Given the description of an element on the screen output the (x, y) to click on. 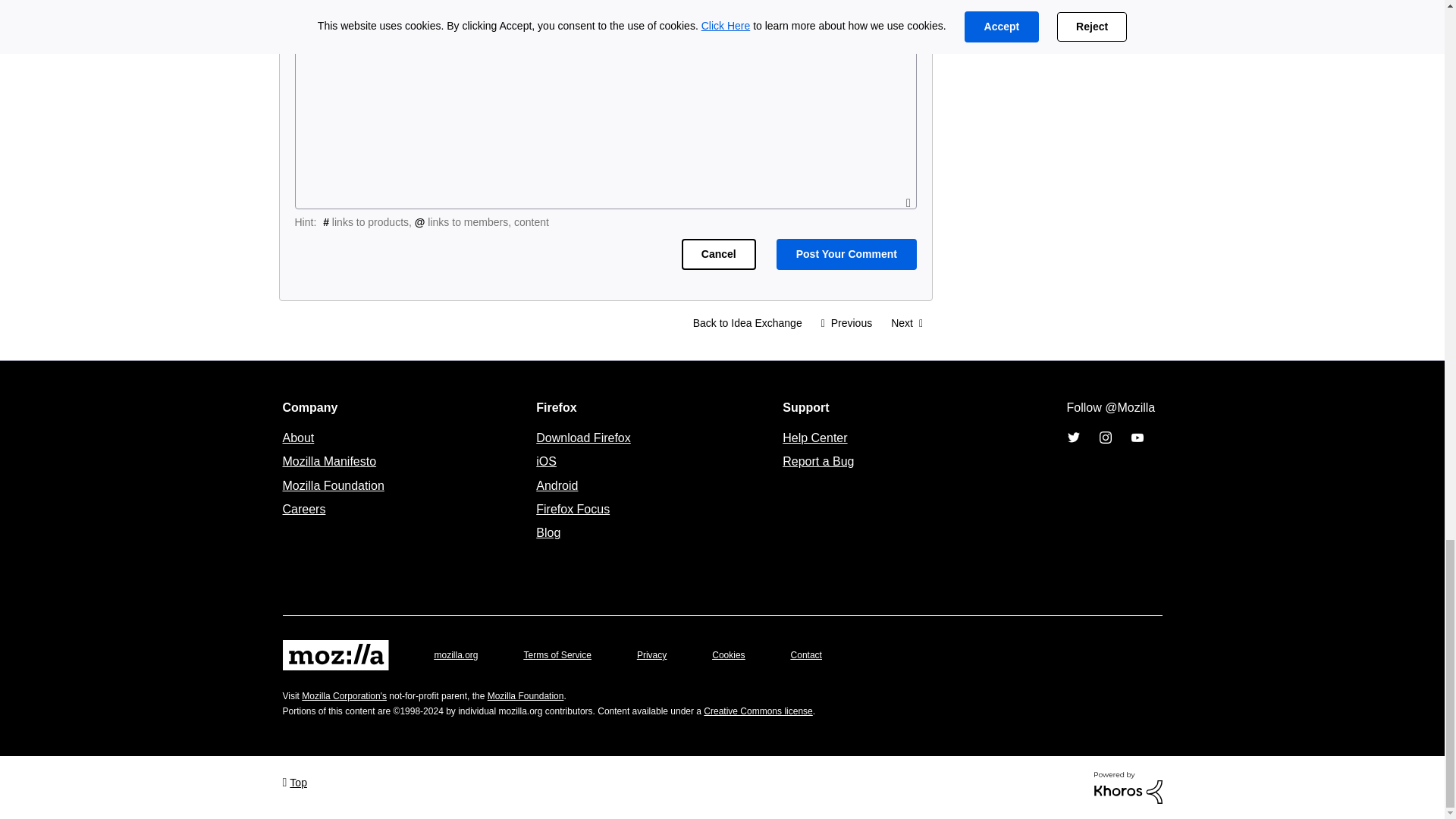
Top (293, 781)
Top (293, 781)
Cancel (718, 254)
Post Your Comment (846, 254)
